Given the description of an element on the screen output the (x, y) to click on. 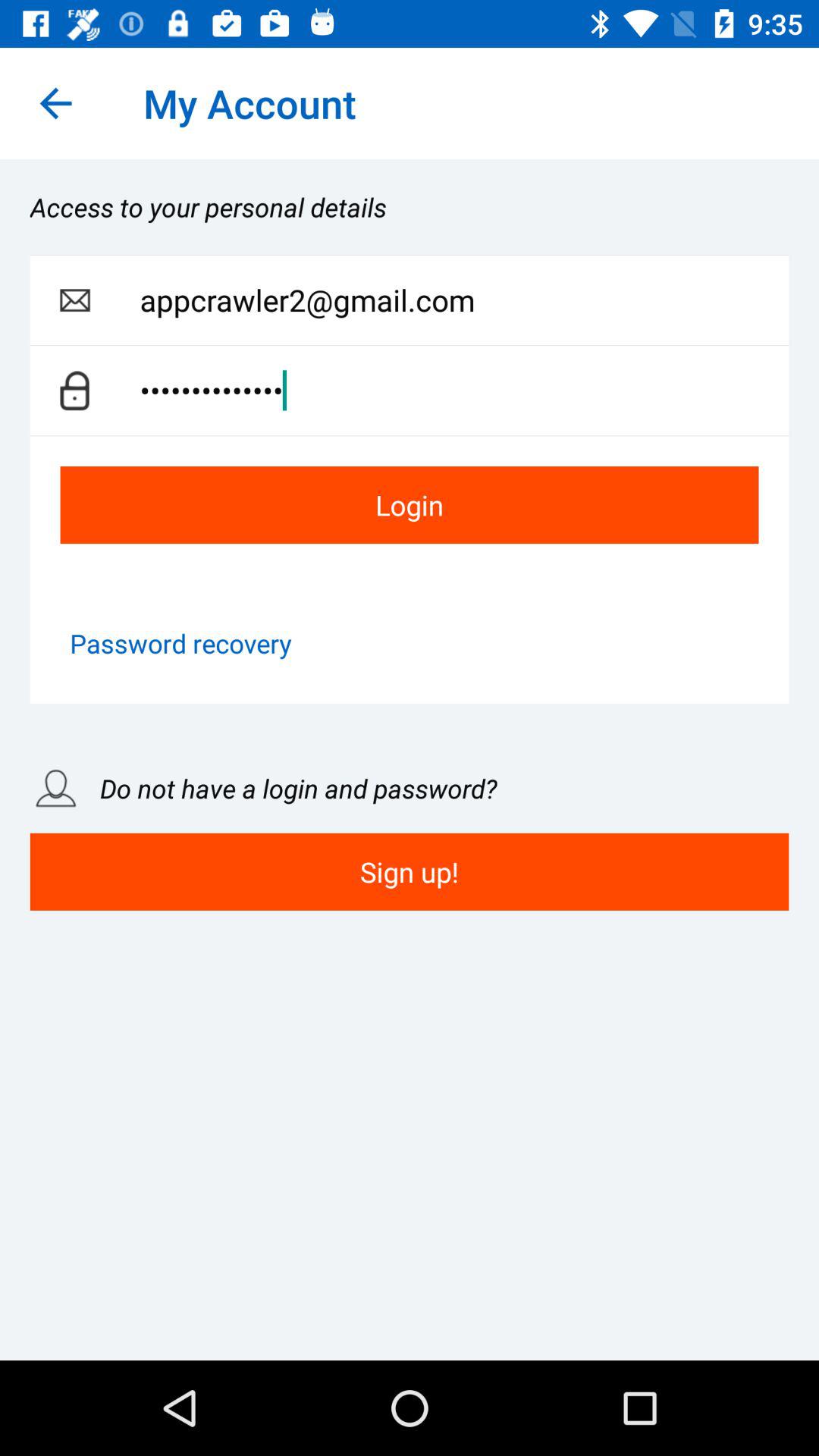
select password recovery icon (180, 643)
